Given the description of an element on the screen output the (x, y) to click on. 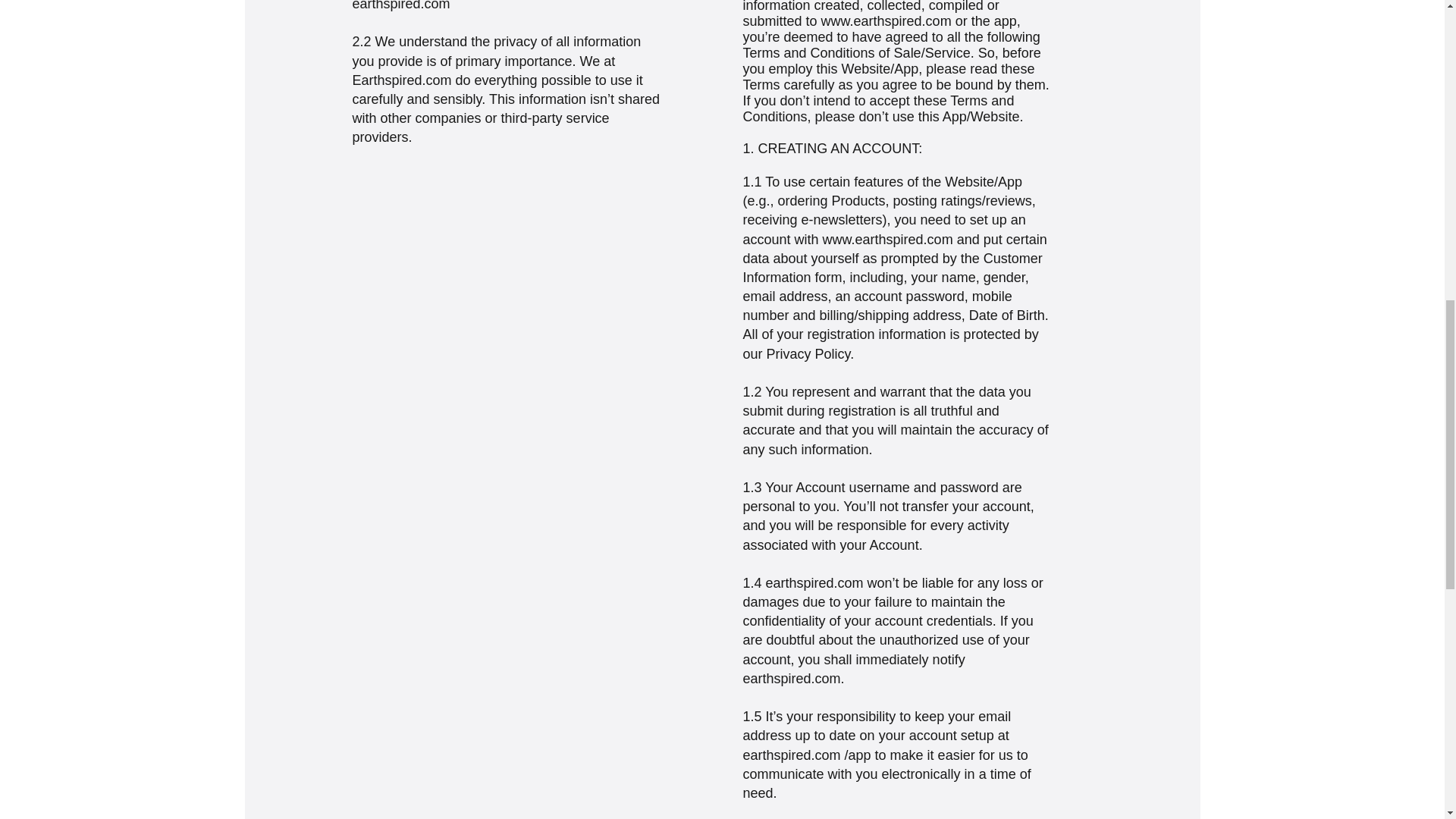
www.earthspired.com (886, 20)
www.earthspired.com (887, 239)
